Given the description of an element on the screen output the (x, y) to click on. 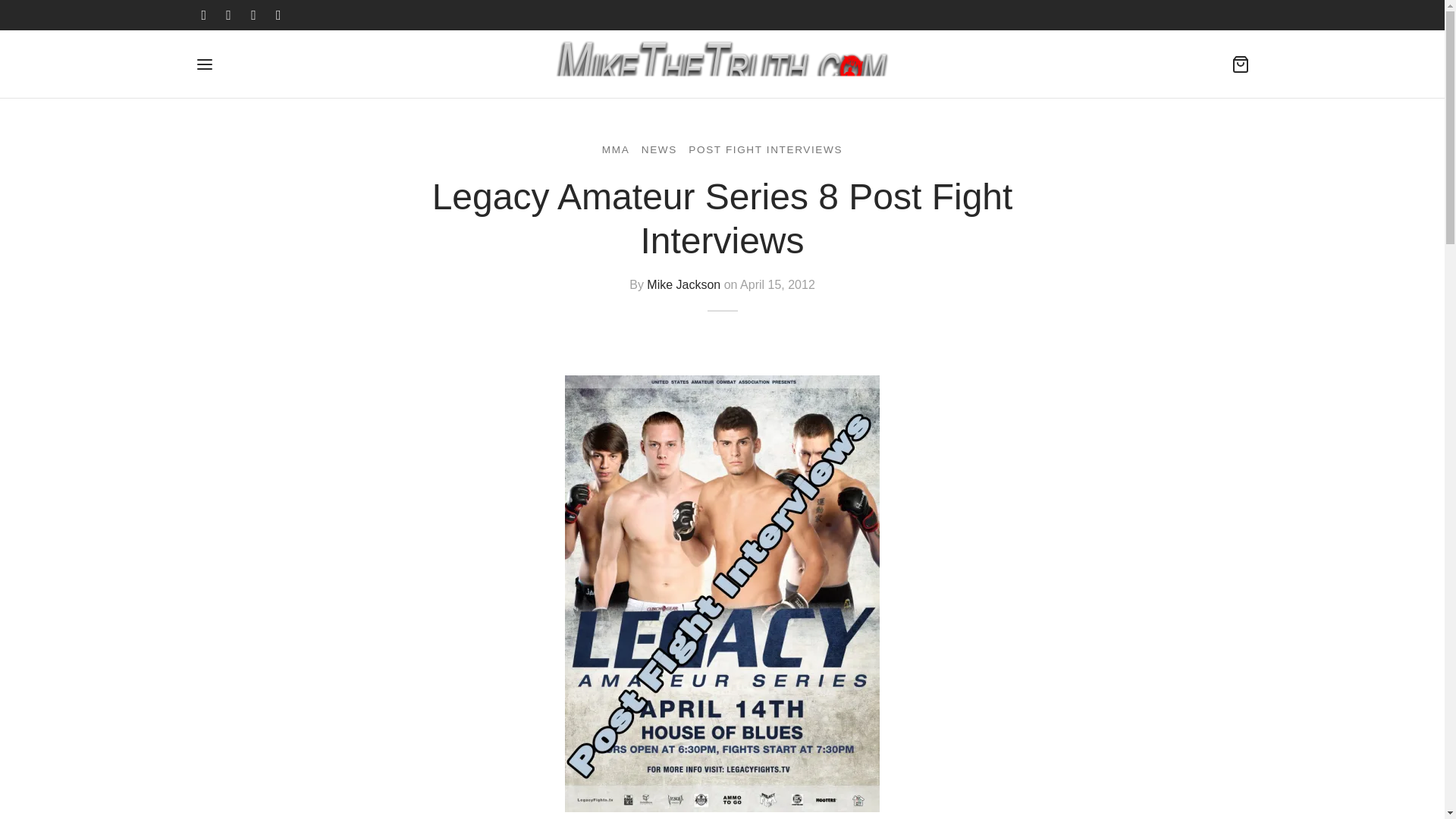
NEWS (659, 149)
POST FIGHT INTERVIEWS (765, 149)
Cart (1240, 64)
Posts by Mike Jackson (683, 284)
Mike Jackson (683, 284)
MMA (616, 149)
